Given the description of an element on the screen output the (x, y) to click on. 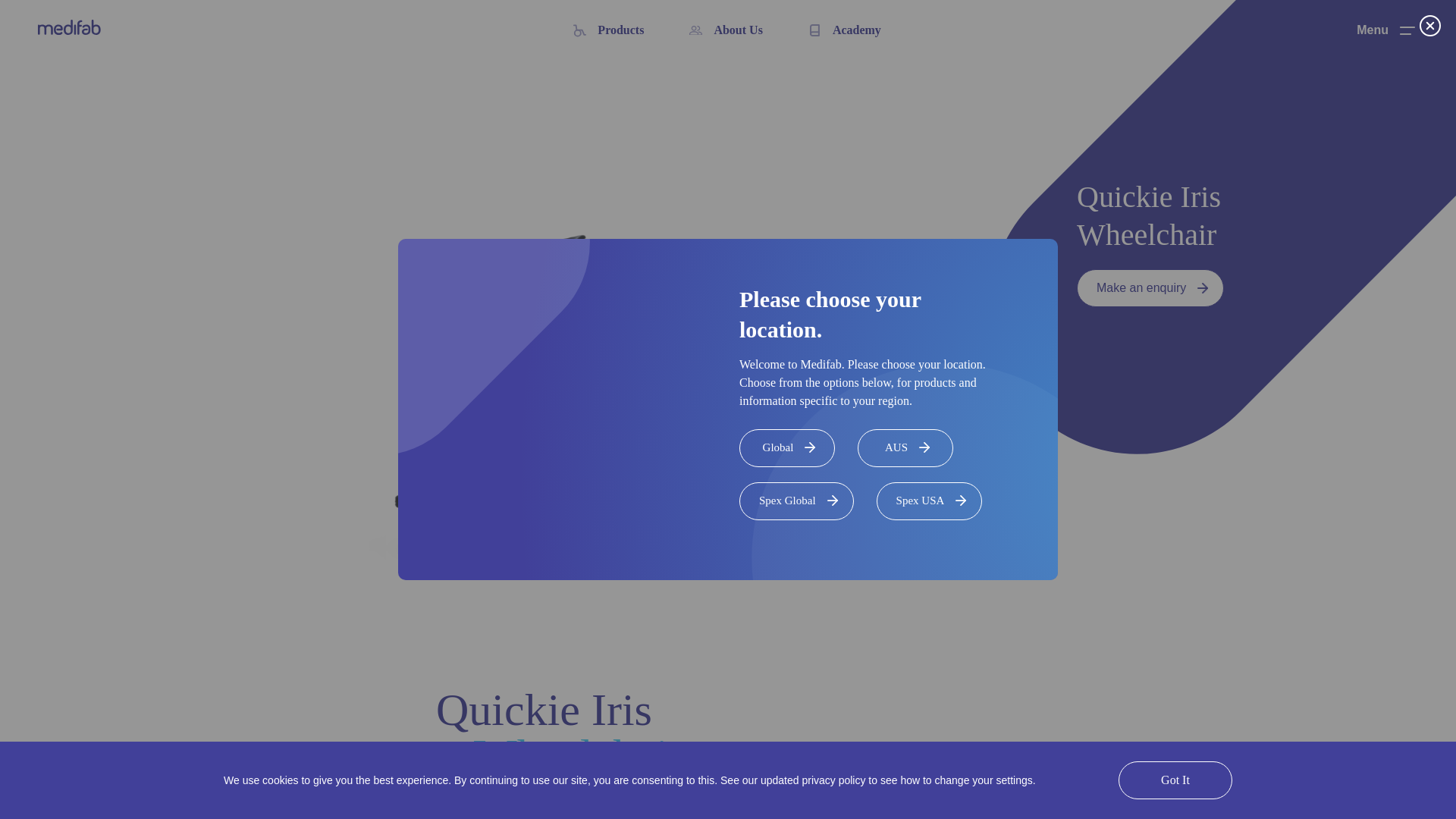
Menu (1386, 29)
Academy (844, 30)
Continue browsing (1112, 784)
About Us (724, 30)
Global (786, 447)
Switch region (973, 784)
Products (608, 30)
